Given the description of an element on the screen output the (x, y) to click on. 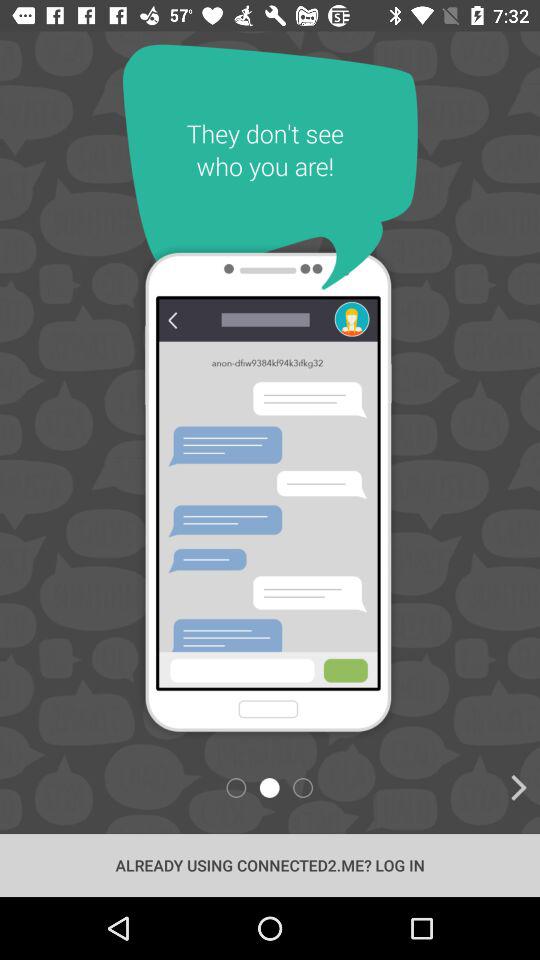
scroll until already using connected2 button (270, 864)
